Given the description of an element on the screen output the (x, y) to click on. 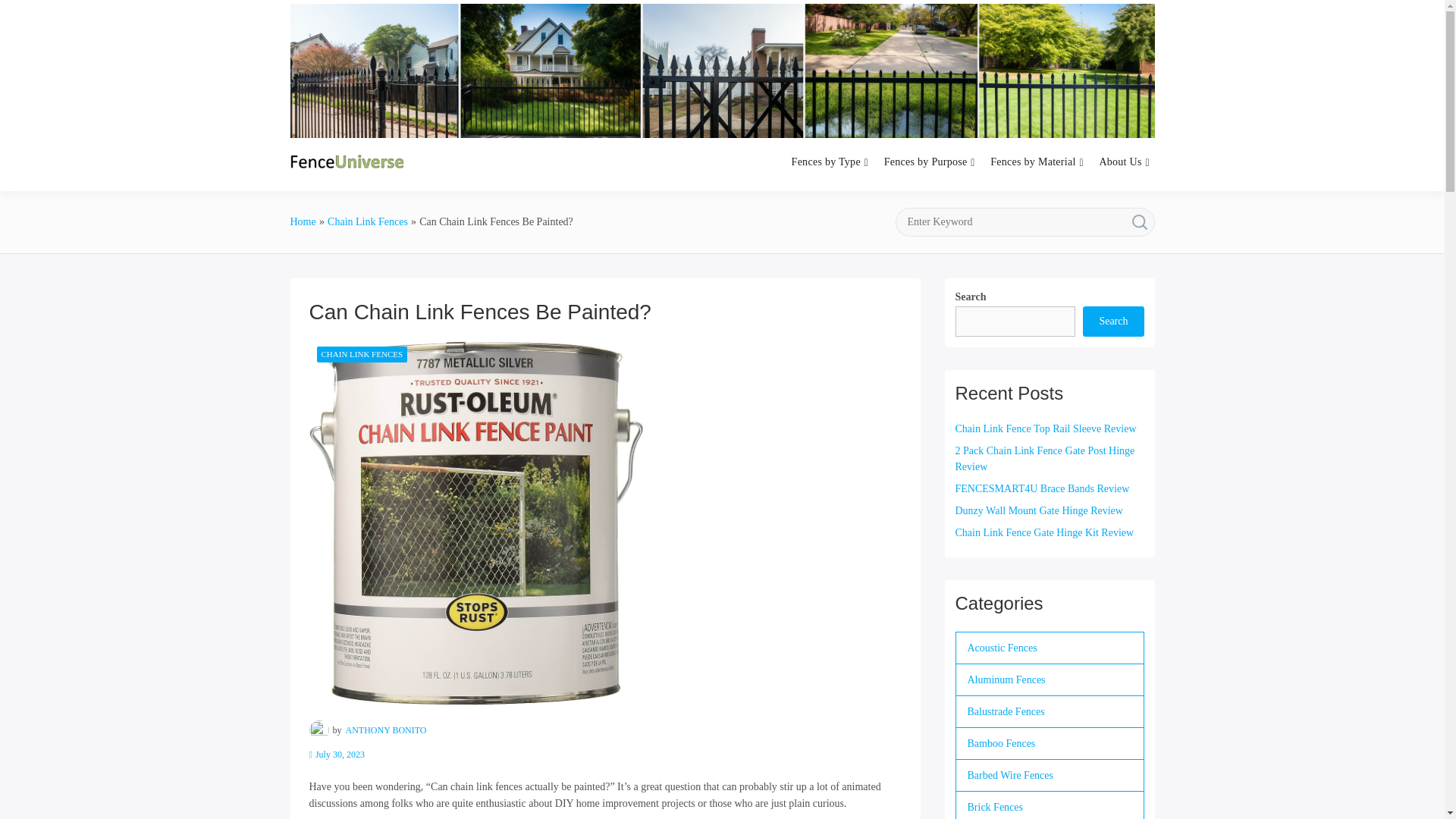
Fences by Purpose (925, 162)
FenceUniverse (504, 179)
Fences by Type (826, 162)
Go (1139, 222)
